Given the description of an element on the screen output the (x, y) to click on. 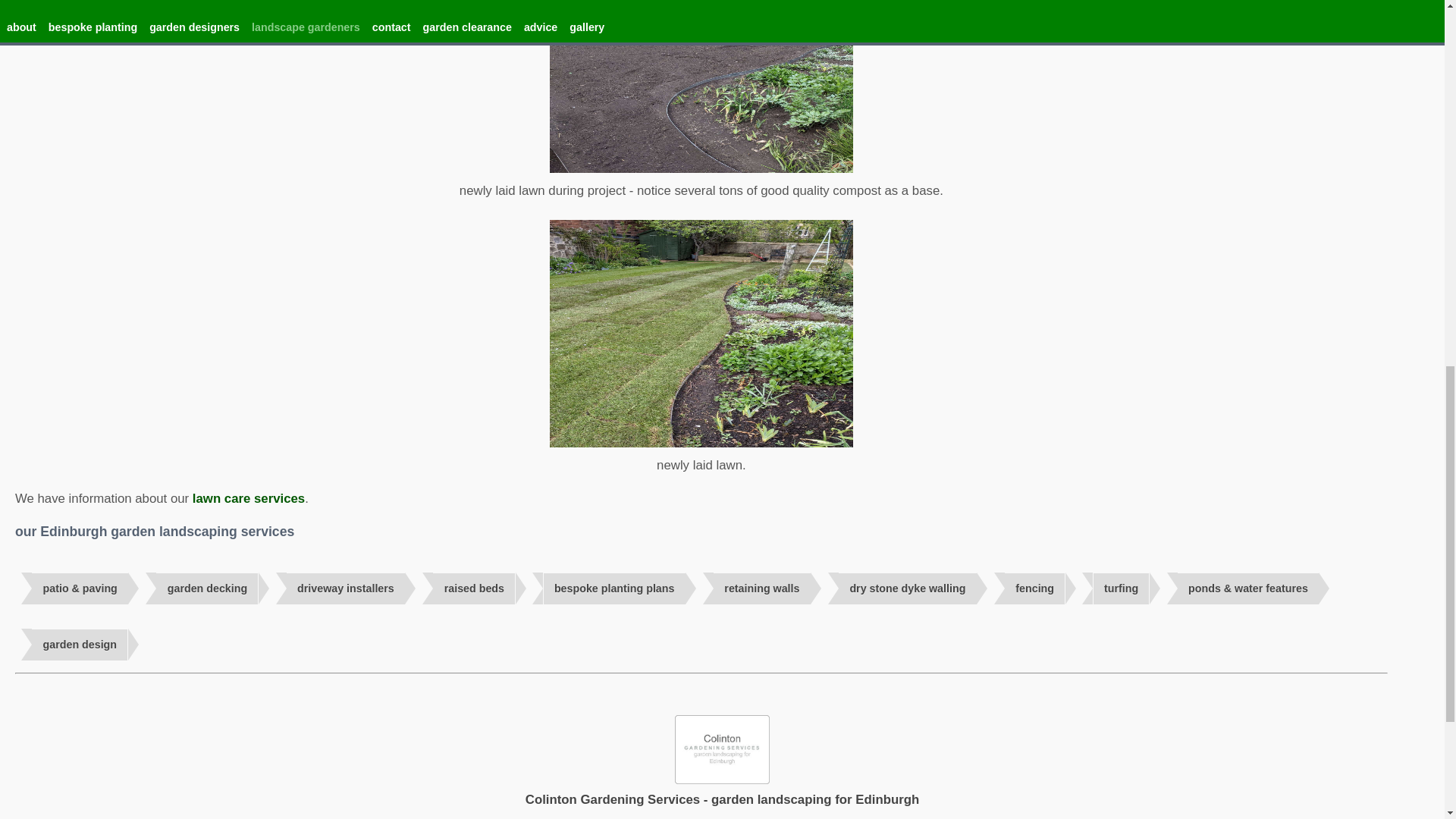
turfing (1121, 588)
retaining walls (761, 588)
dry stone dyke walling (907, 588)
lawn care services (248, 498)
garden design (80, 644)
raised beds (473, 588)
our garden decking services (206, 588)
our lawn care services for Edinburgh (248, 498)
raised beds (473, 588)
garden decking (206, 588)
garden patio and paving services (80, 588)
driveway installers (345, 588)
bespoke planting plants (614, 588)
driveway installers (345, 588)
bespoke planting plans (614, 588)
